Given the description of an element on the screen output the (x, y) to click on. 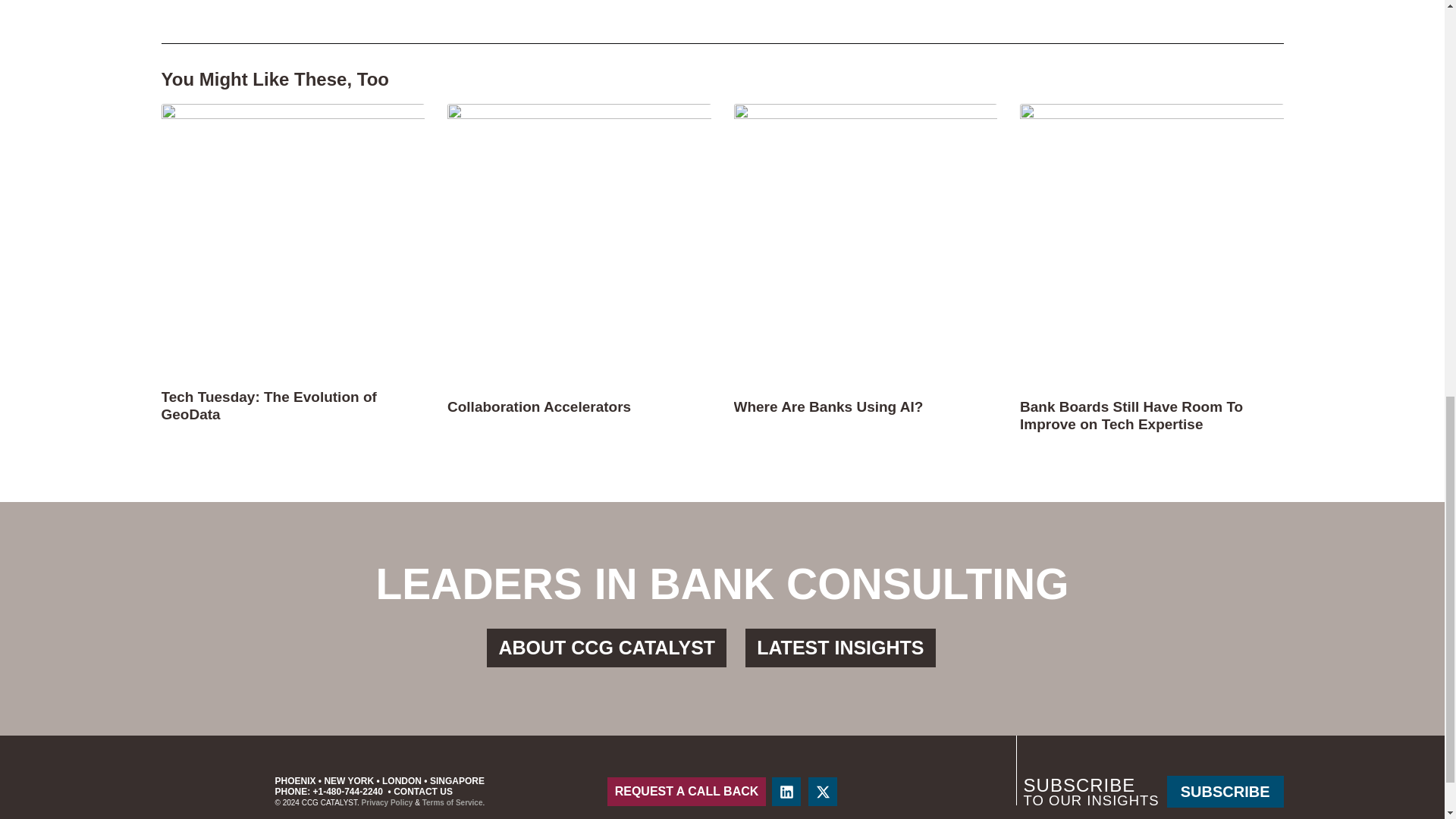
Tech Tuesday: The Evolution of GeoData (267, 405)
Bank Boards Still Have Room To Improve on Tech Expertise (1131, 415)
Where Are Banks Using AI? (828, 406)
Privacy Policy (387, 802)
Terms of Service (452, 802)
CONTACT US (422, 791)
LATEST INSIGHTS (839, 647)
SUBSCRIBE (1225, 791)
Collaboration Accelerators (538, 406)
REQUEST A CALL BACK (687, 791)
ABOUT CCG CATALYST (606, 647)
